Given the description of an element on the screen output the (x, y) to click on. 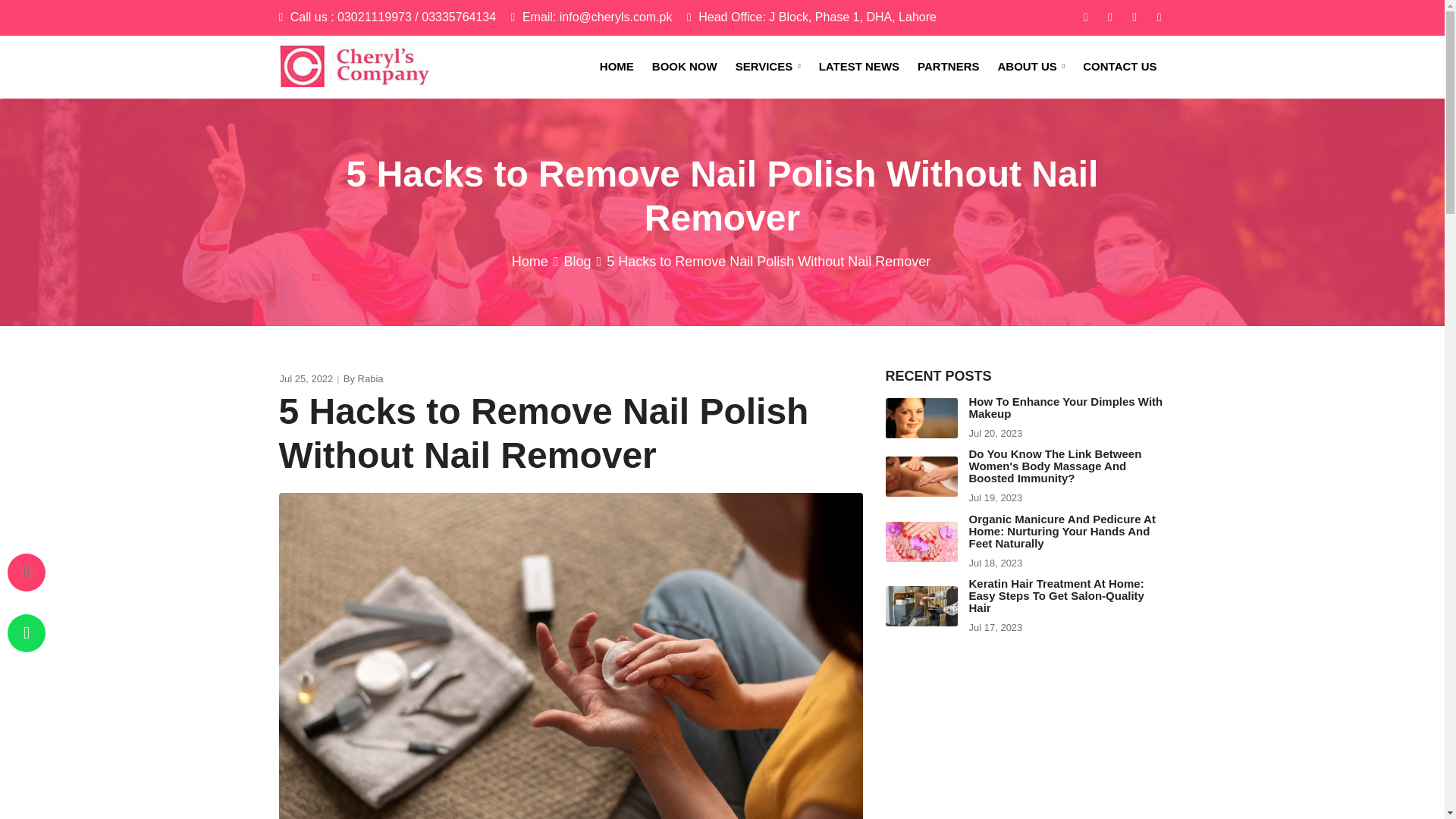
BOOK NOW (684, 67)
Rabia (371, 378)
LATEST NEWS (858, 67)
Blog (577, 260)
Home (530, 260)
How To Enhance Your Dimples With Makeup (1066, 406)
ABOUT US (1031, 67)
PARTNERS (948, 67)
CONTACT US (1120, 67)
SERVICES (767, 67)
